Given the description of an element on the screen output the (x, y) to click on. 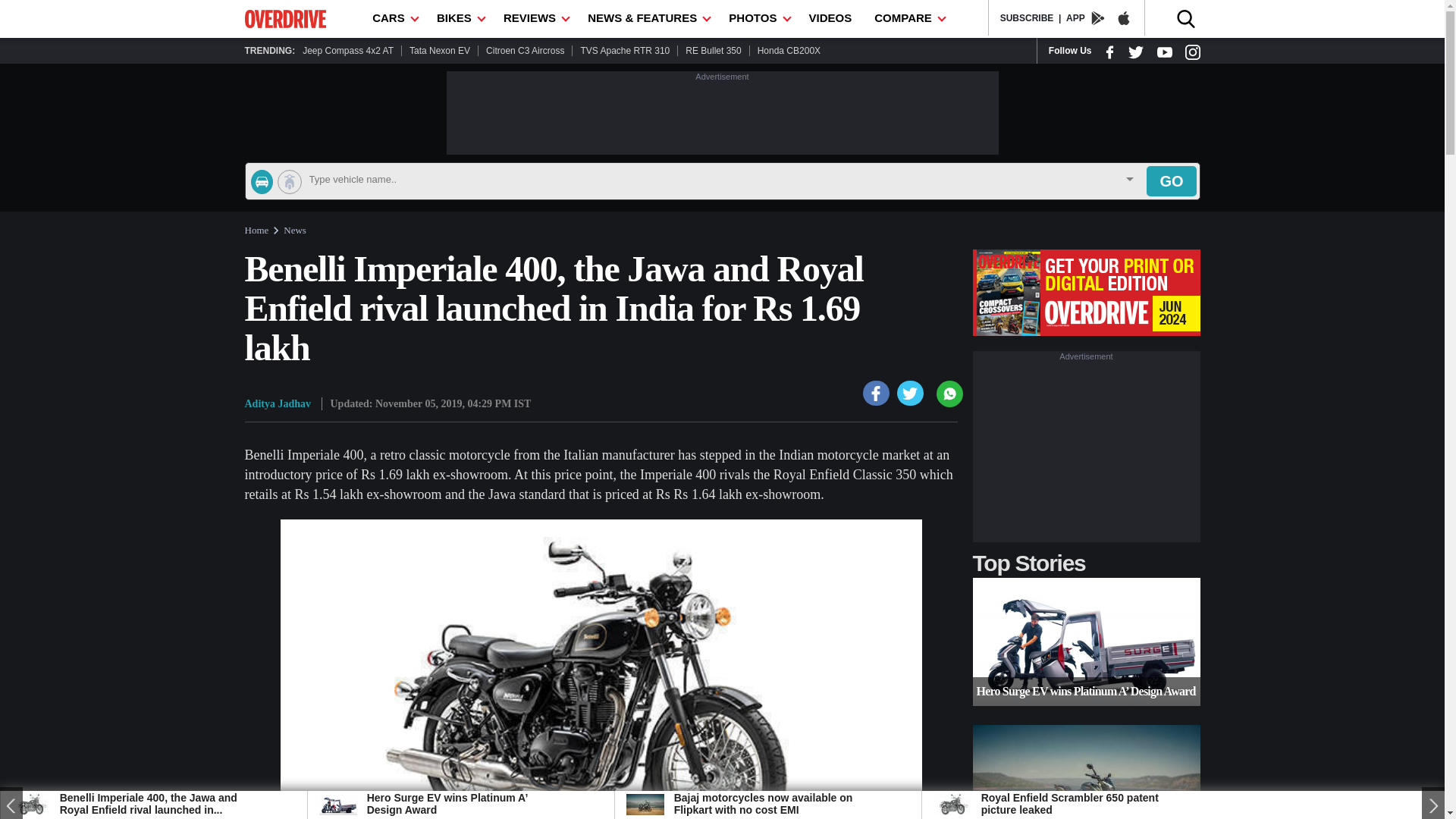
PHOTOS (756, 18)
BIKES (458, 18)
REVIEWS (534, 18)
CARS (393, 18)
